Given the description of an element on the screen output the (x, y) to click on. 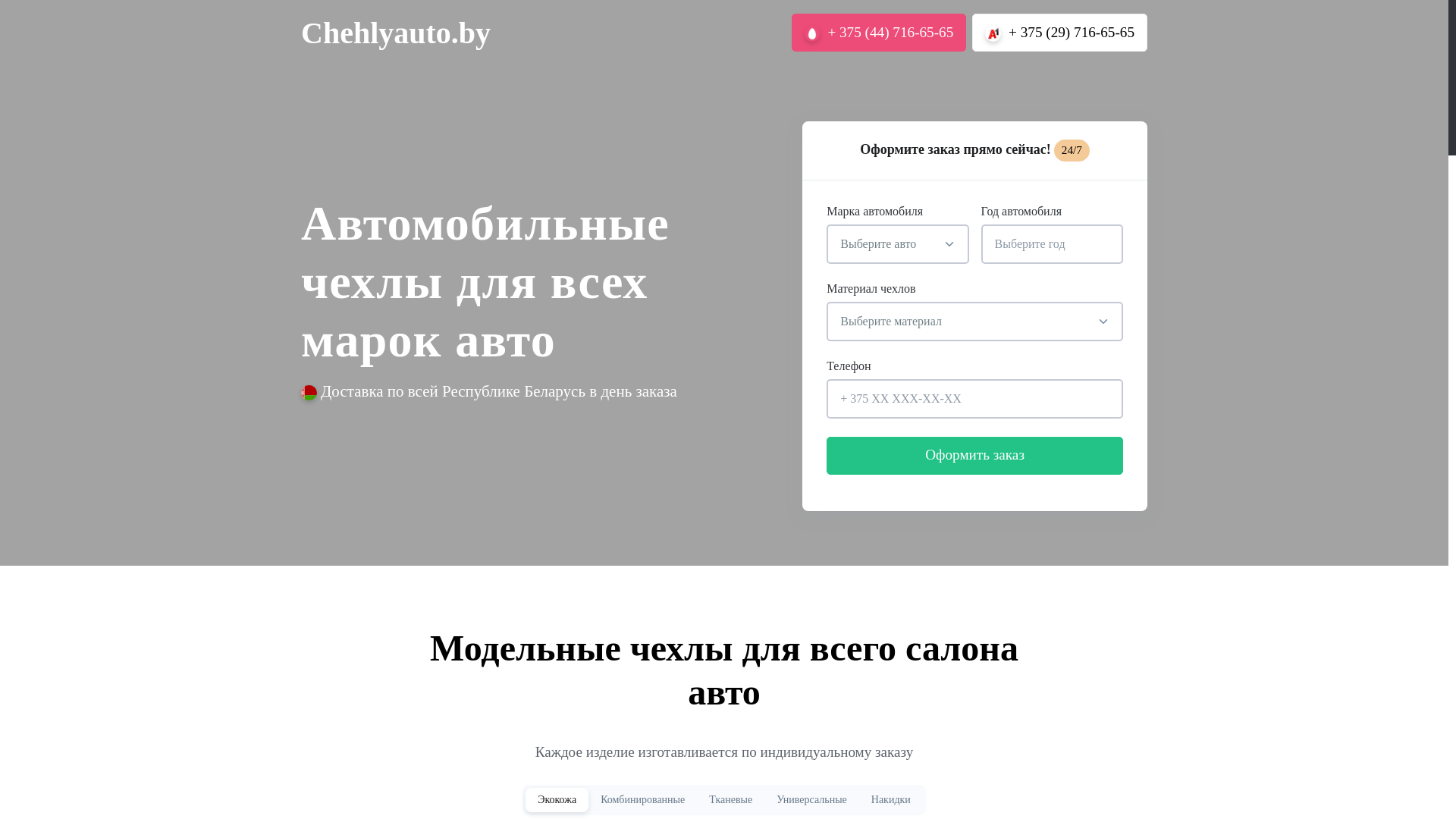
Pick a date Element type: text (1104, 244)
Chehlyauto.by Element type: text (395, 32)
+ 375 (29) 716-65-65 Element type: text (1059, 32)
+ 375 (44) 716-65-65 Element type: text (878, 32)
